Given the description of an element on the screen output the (x, y) to click on. 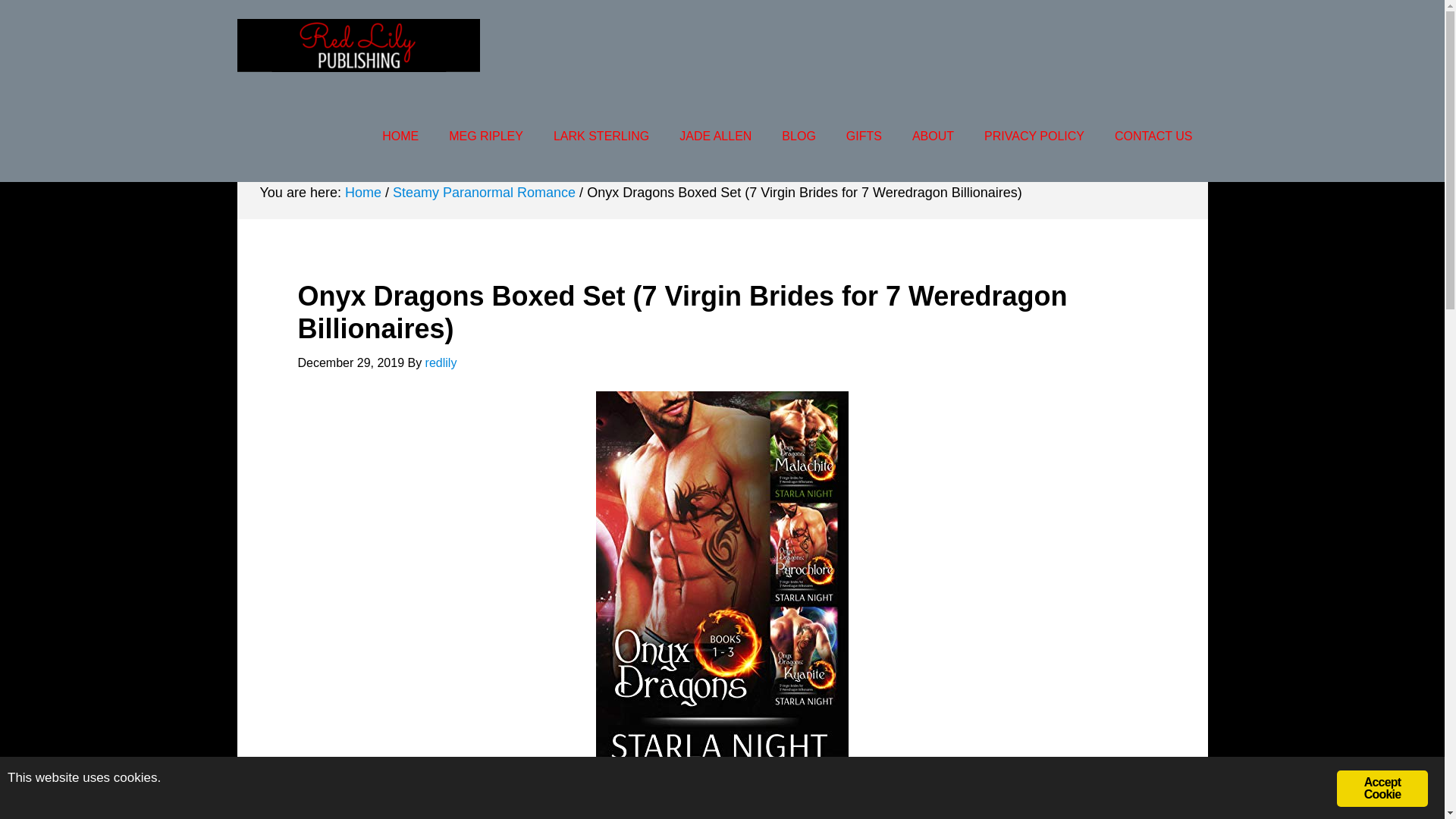
PARANORMAL ROMANCE (551, 128)
ALL BOOKS (1150, 128)
Steamy Paranormal Romance (484, 192)
JADE ALLEN (715, 135)
Home (363, 192)
Buy Now (721, 794)
MEG RIPLEY (485, 135)
LARK STERLING (600, 135)
PRIVACY POLICY (1034, 135)
CONTACT US (1153, 135)
CONTEMPORARY ROMANCE (343, 128)
redlily (441, 362)
Red Lily Publishing (357, 45)
